Given the description of an element on the screen output the (x, y) to click on. 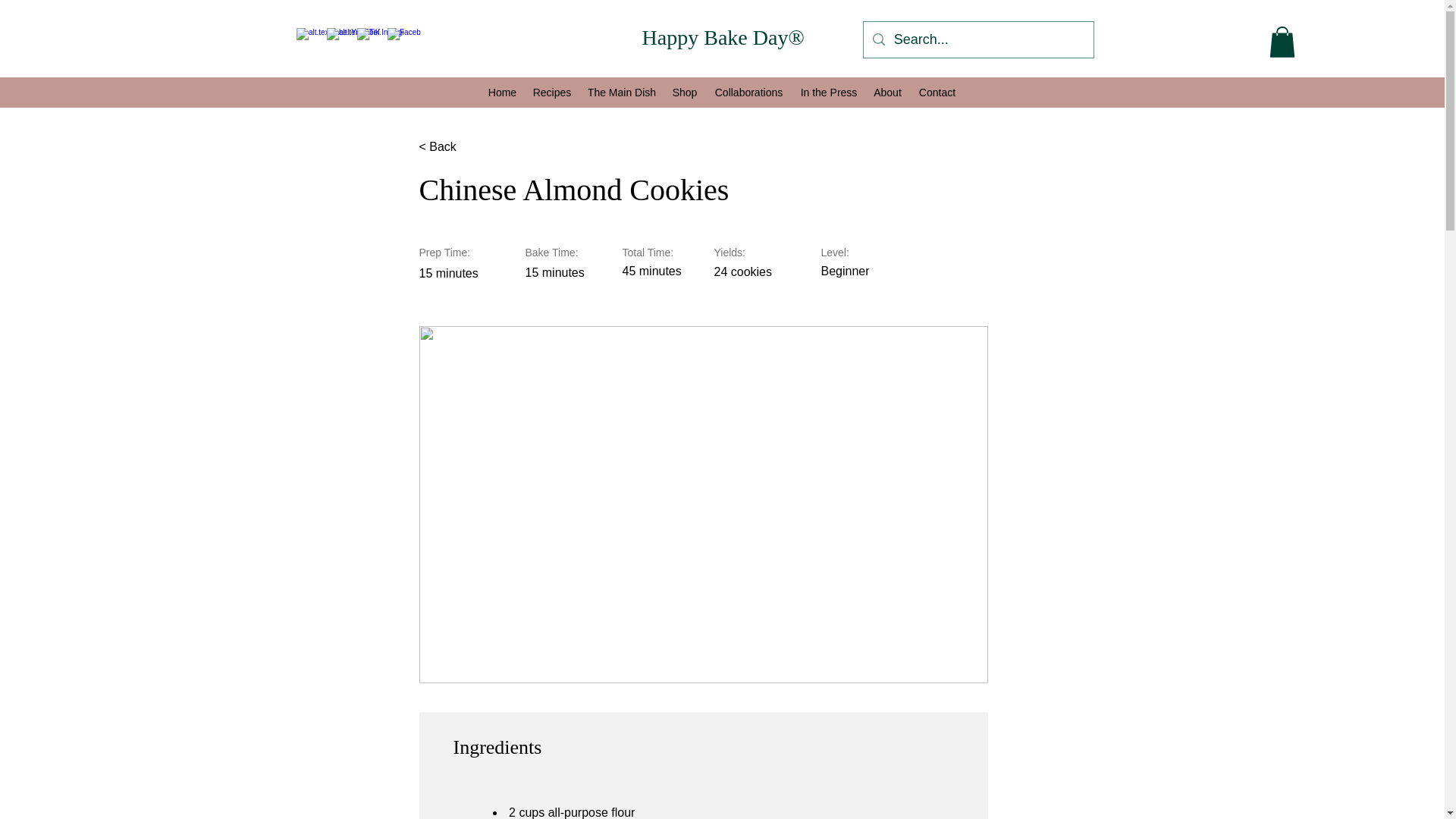
Home (502, 92)
Contact (936, 92)
Shop (683, 92)
In the Press (828, 92)
Collaborations (748, 92)
The Main Dish (621, 92)
About (887, 92)
Recipes (551, 92)
